Given the description of an element on the screen output the (x, y) to click on. 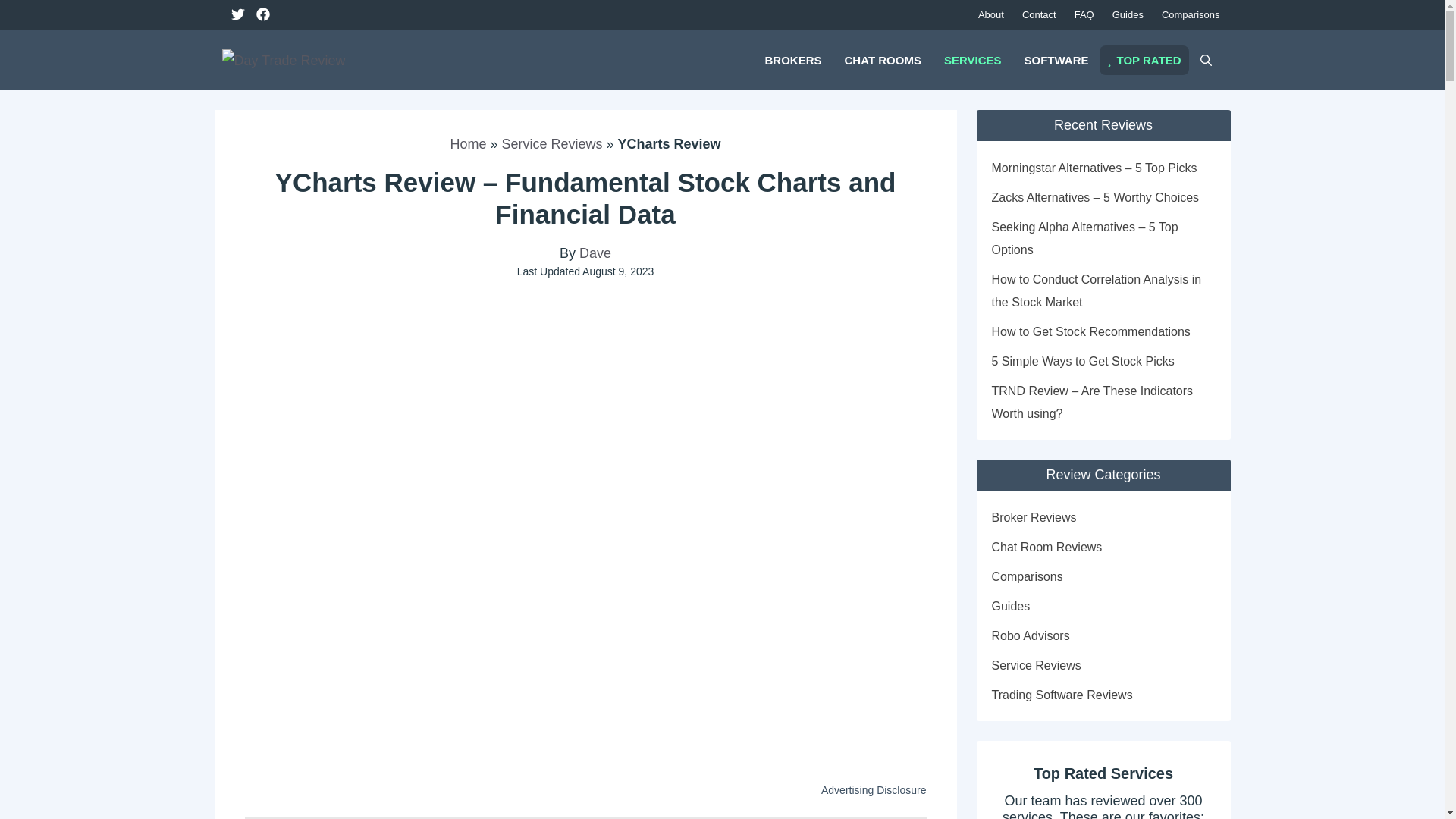
TOP RATED (1143, 60)
BROKERS (792, 60)
Comparisons (1190, 15)
SERVICES (973, 60)
About (991, 15)
FAQ (1084, 15)
CHAT ROOMS (881, 60)
Service Reviews (551, 143)
Advertising Disclosure (873, 789)
Guides (1128, 15)
